Given the description of an element on the screen output the (x, y) to click on. 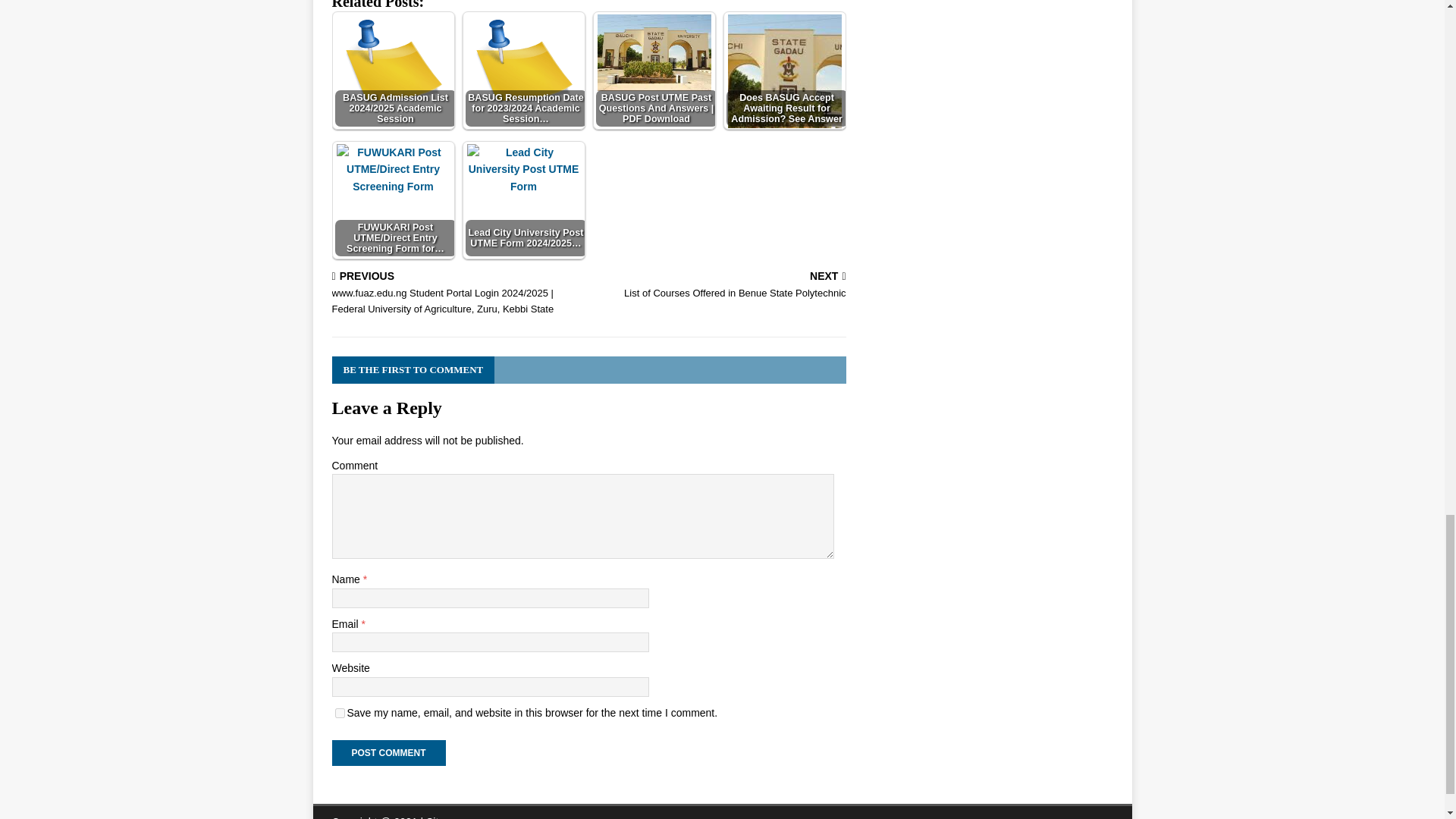
Does BASUG Accept Awaiting Result for Admission? See Answer (720, 286)
Does BASUG Accept Awaiting Result for Admission? See Answer (784, 70)
Post Comment (784, 70)
yes (388, 752)
Post Comment (339, 713)
